Given the description of an element on the screen output the (x, y) to click on. 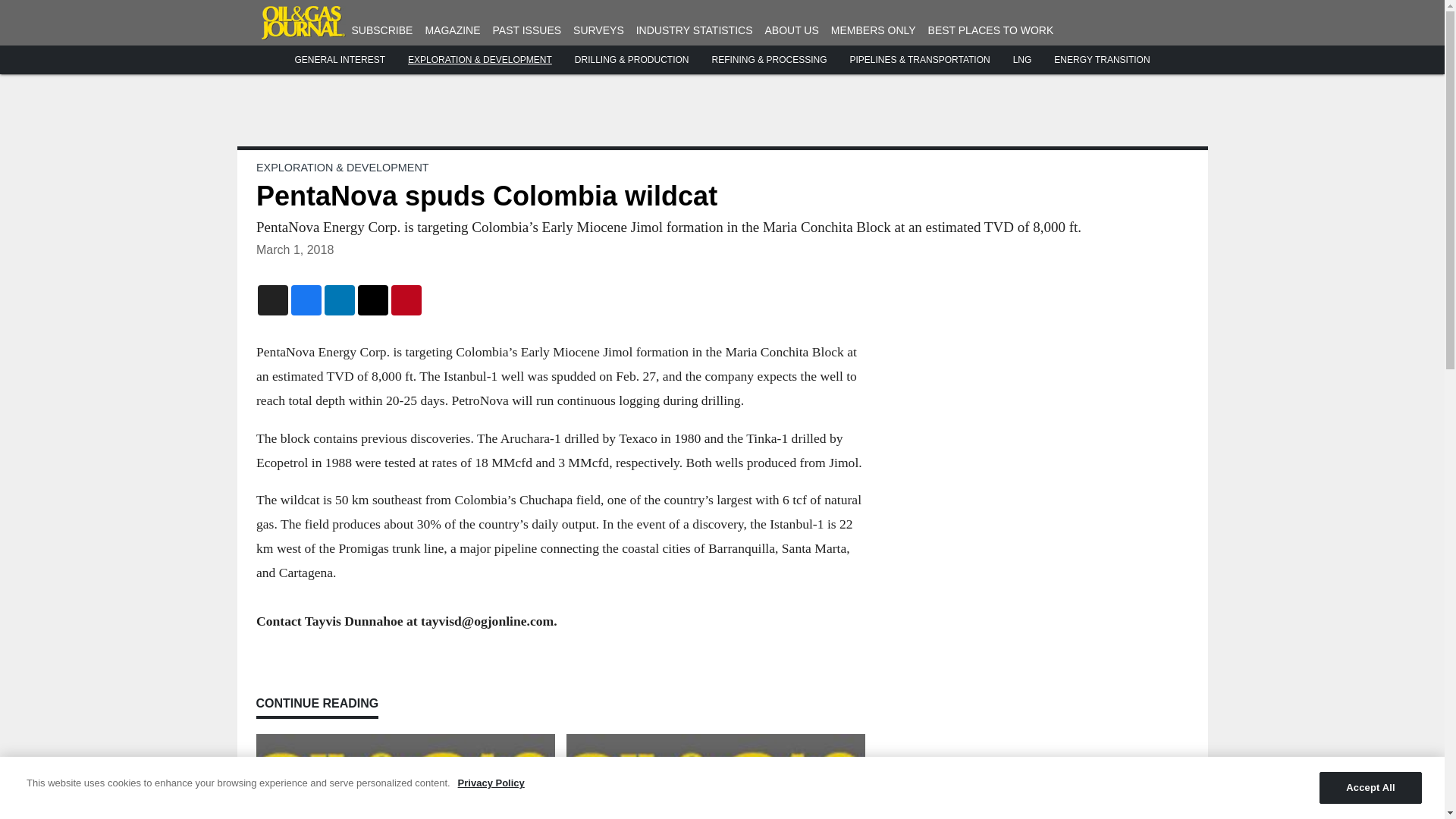
SURVEYS (598, 30)
INDUSTRY STATISTICS (694, 30)
LNG (1022, 59)
ENERGY TRANSITION (1102, 59)
MEMBERS ONLY (873, 30)
MAGAZINE (452, 30)
ABOUT US (791, 30)
GENERAL INTEREST (339, 59)
PAST ISSUES (527, 30)
BEST PLACES TO WORK (991, 30)
SUBSCRIBE (382, 30)
